Given the description of an element on the screen output the (x, y) to click on. 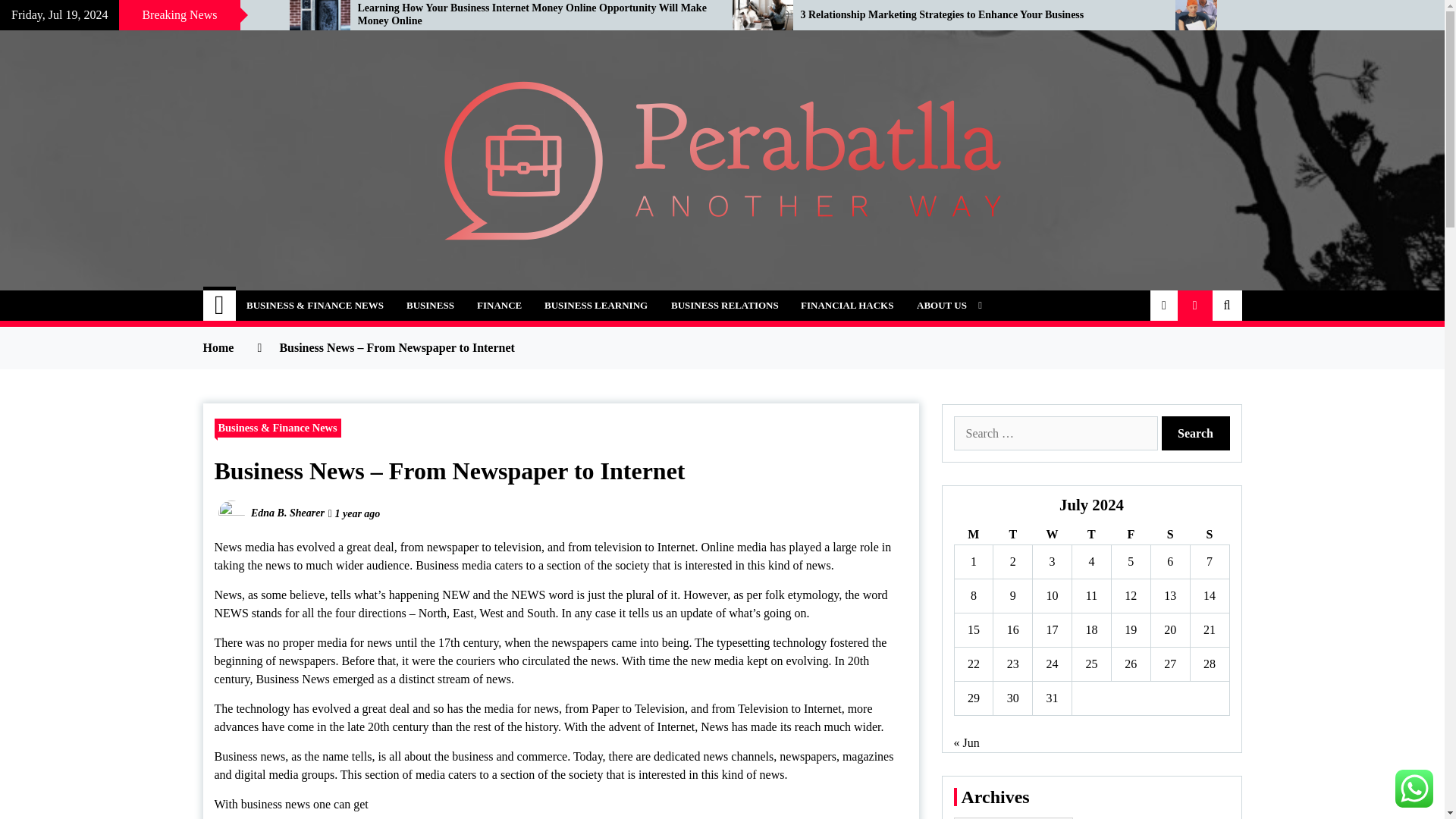
Home (219, 305)
3 Keys To Starting A Small Business (133, 15)
Sunday (1208, 534)
Saturday (1169, 534)
Friday (1130, 534)
Search (1195, 433)
Search (1195, 433)
Thursday (1091, 534)
Wednesday (1051, 534)
Tuesday (1012, 534)
Monday (972, 534)
3 Relationship Marketing Strategies to Enhance Your Business (976, 15)
